Given the description of an element on the screen output the (x, y) to click on. 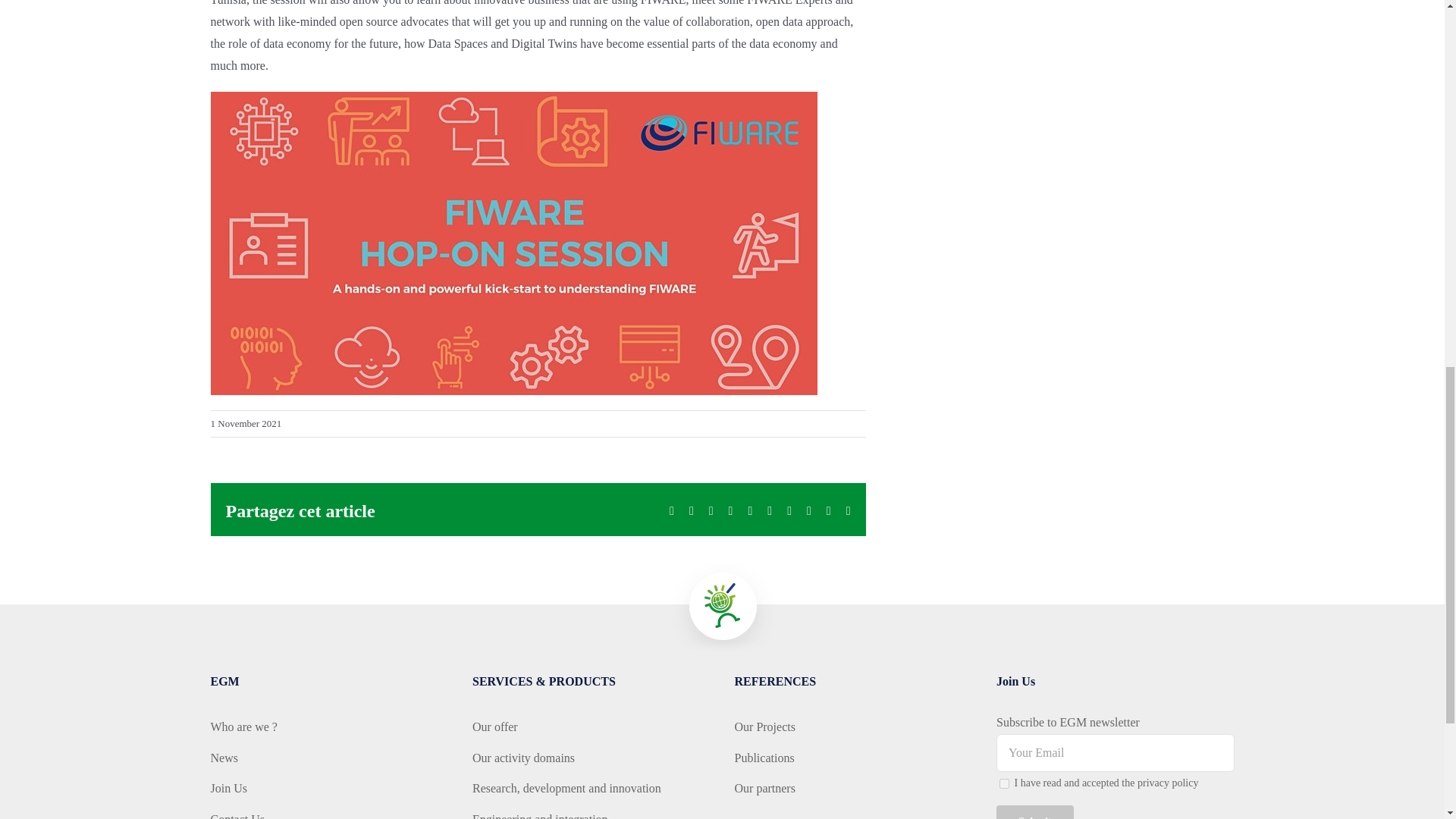
1 (1003, 783)
Submit (1034, 812)
Contact Us (329, 814)
News (329, 758)
Who are we ? (329, 727)
Join Us (329, 789)
